Given the description of an element on the screen output the (x, y) to click on. 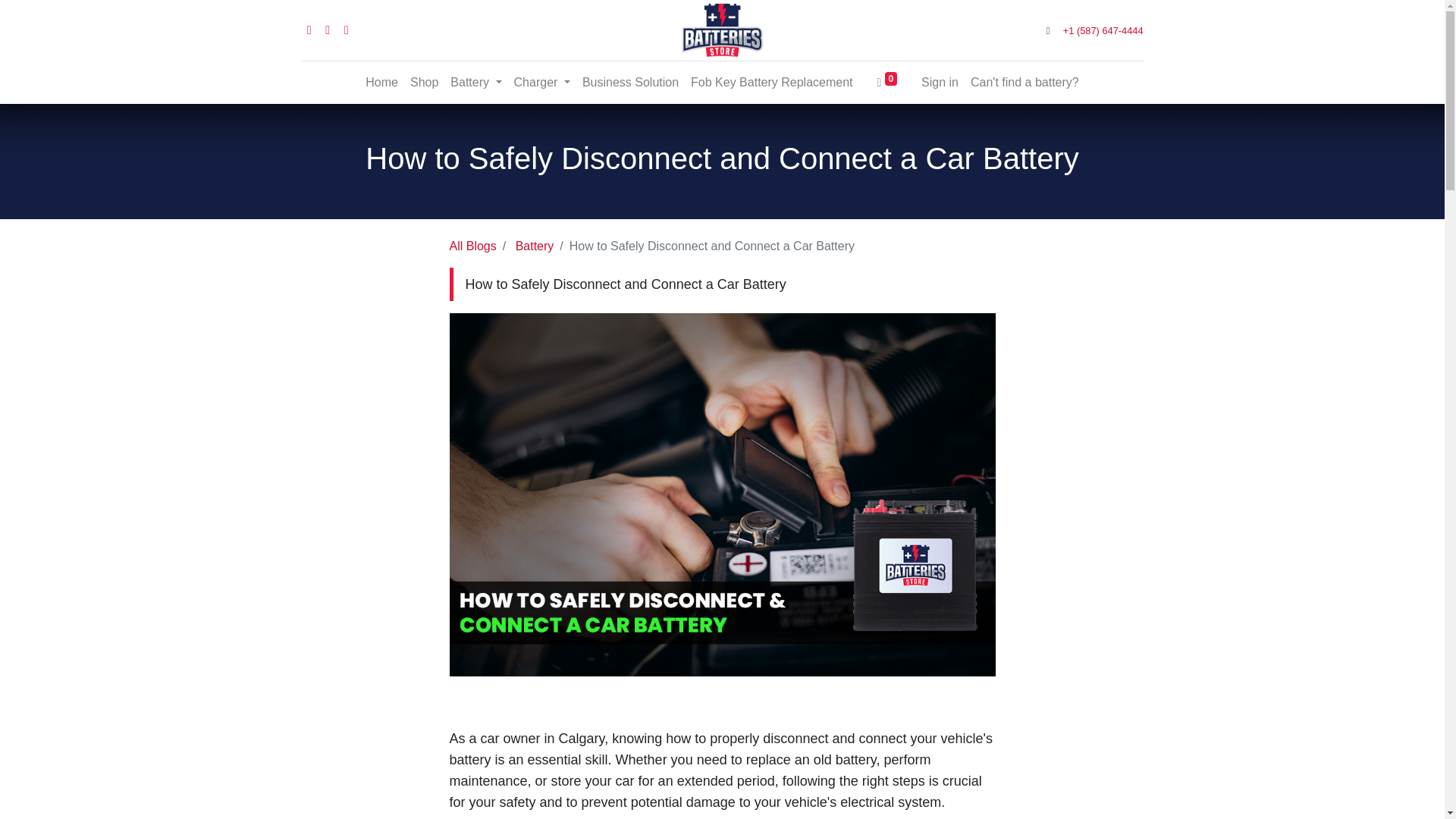
Charger (542, 82)
Home (381, 82)
Batteries Store (722, 30)
Battery (475, 82)
Shop (424, 82)
